Given the description of an element on the screen output the (x, y) to click on. 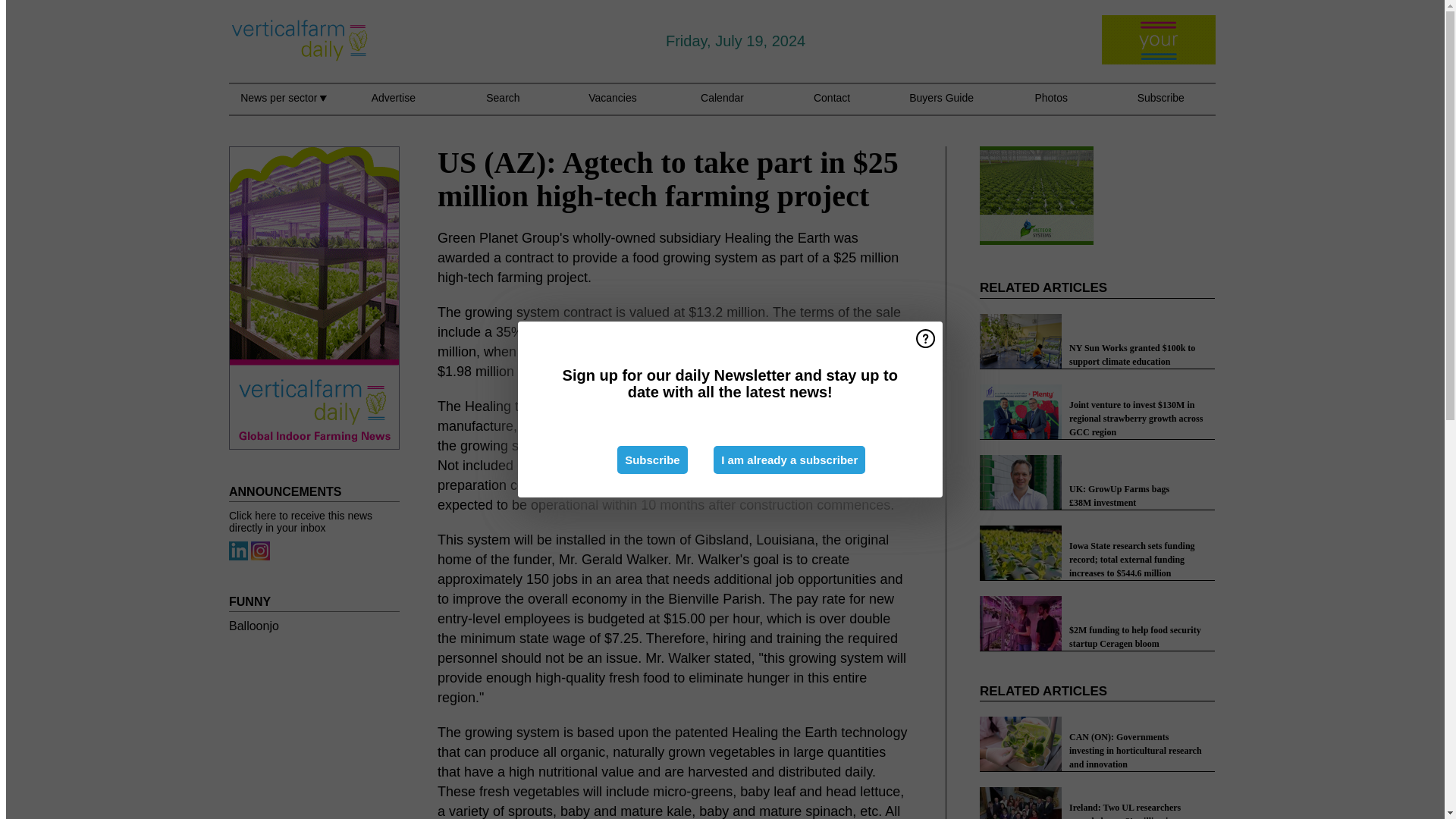
News per sector (283, 106)
I am already a subscriber (788, 459)
Search (502, 106)
Subscribe (652, 459)
Advertise (392, 106)
